Given the description of an element on the screen output the (x, y) to click on. 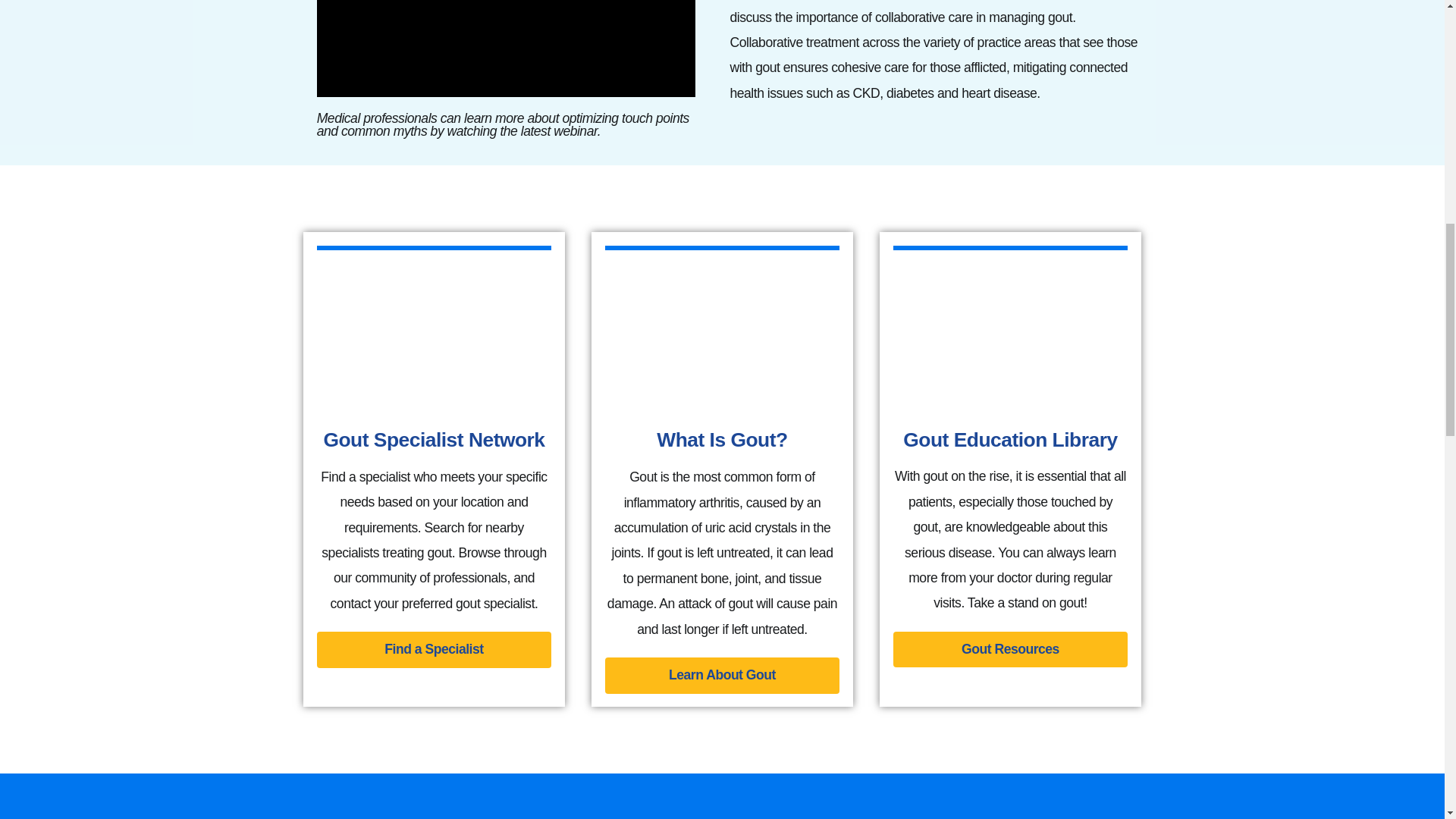
Home Page 2 (722, 328)
Home Page 1 (434, 328)
Home Page 3 (1010, 328)
